Given the description of an element on the screen output the (x, y) to click on. 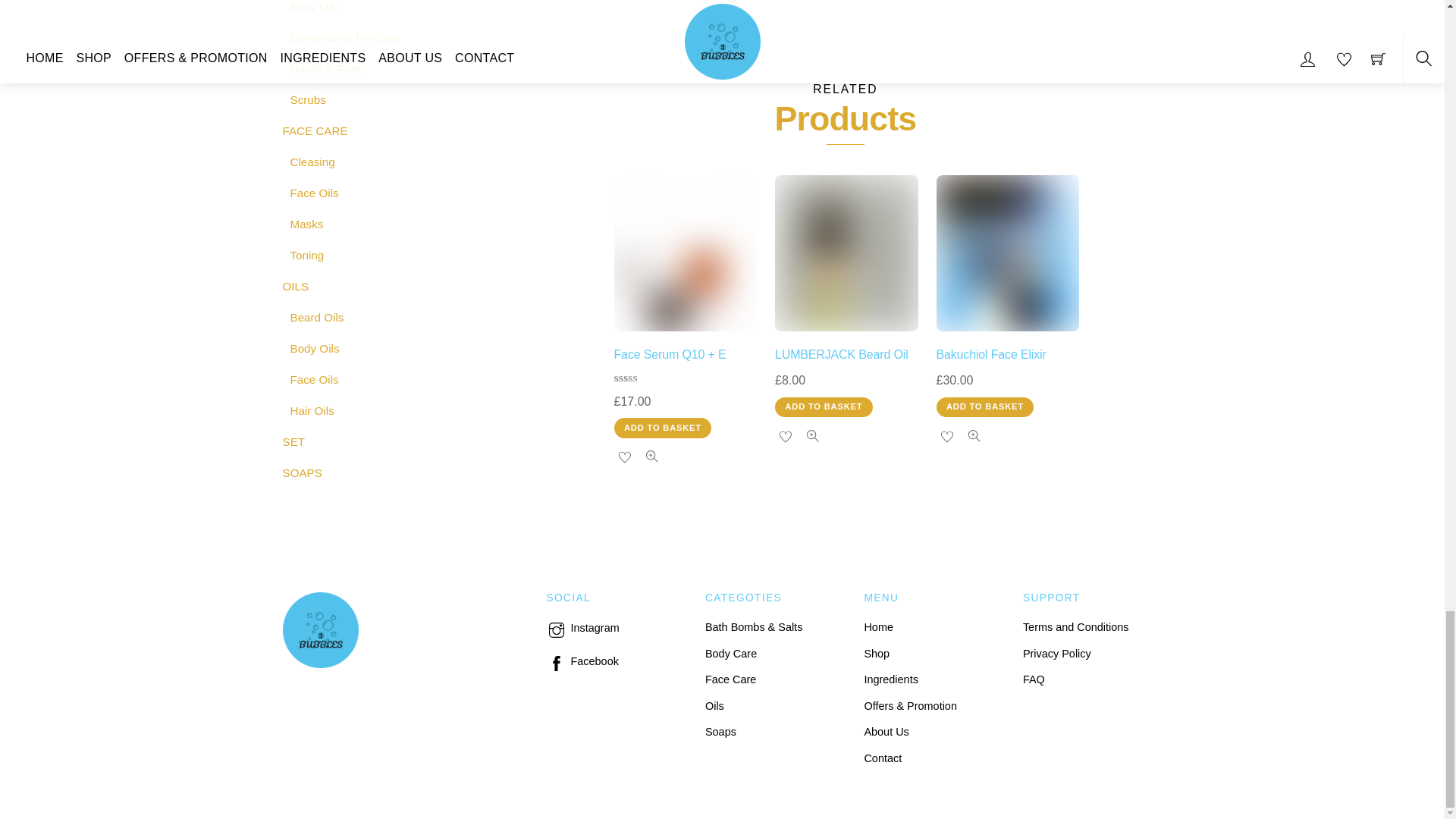
bakuchiol face serum (1007, 252)
Three Bubbles (320, 660)
